Given the description of an element on the screen output the (x, y) to click on. 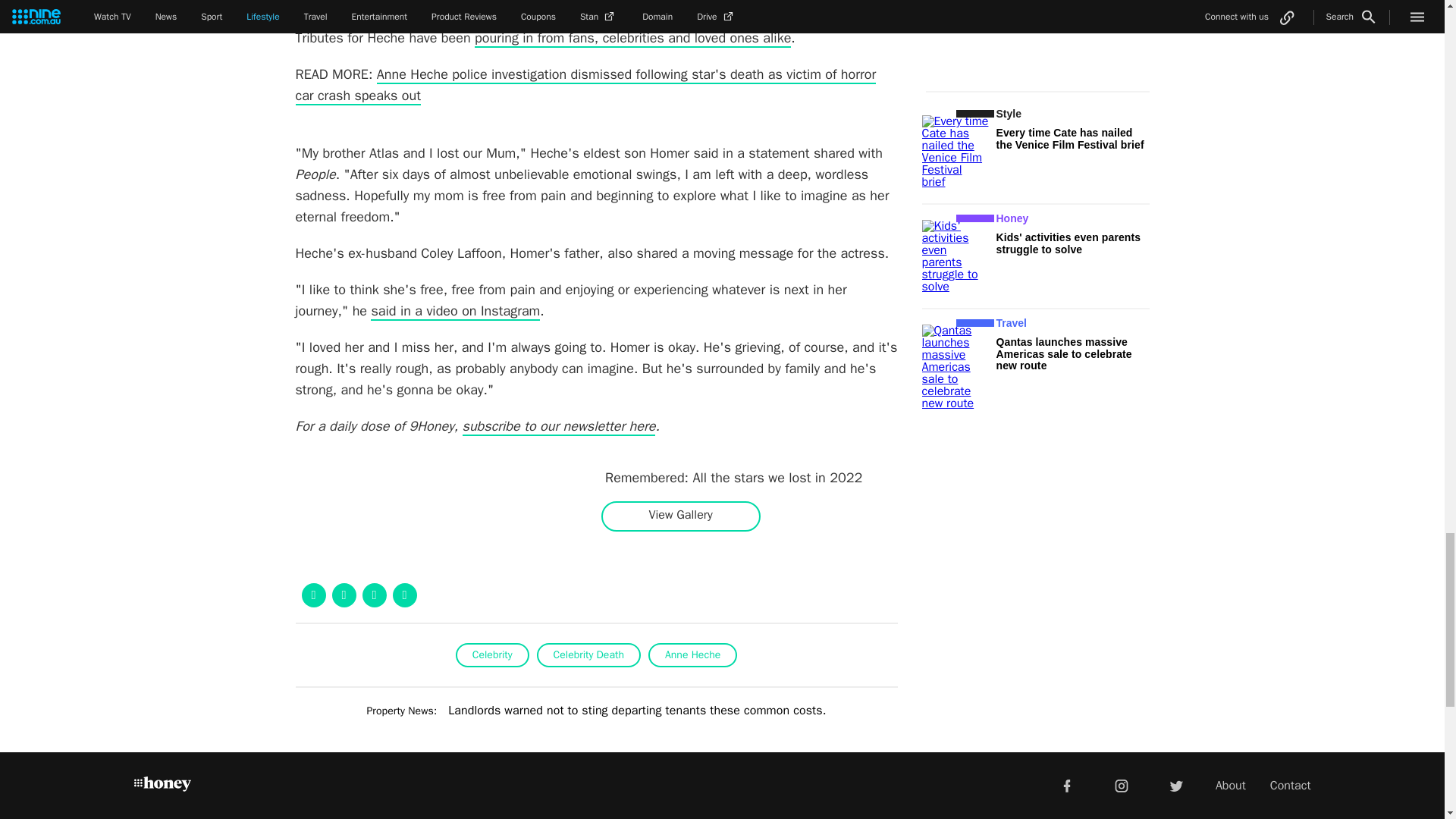
twitter (1175, 784)
subscribe to our newsletter here (559, 426)
instagram (1121, 784)
pouring in from fans, celebrities and loved ones alike (632, 38)
facebook (1066, 784)
said in a video on Instagram (455, 311)
